Given the description of an element on the screen output the (x, y) to click on. 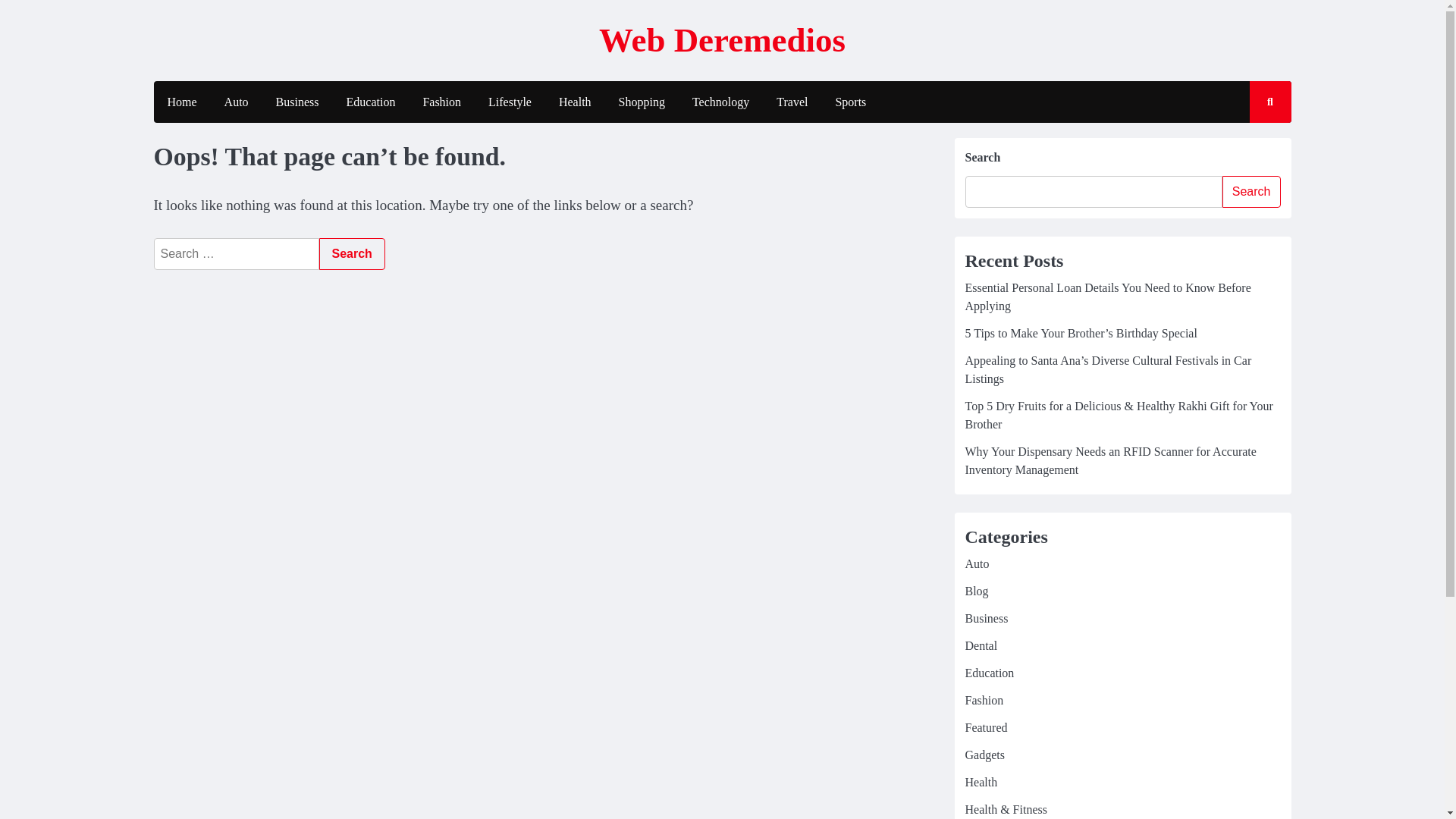
Fashion (983, 699)
Technology (720, 102)
Shopping (641, 102)
Search (1252, 192)
Search (351, 254)
Lifestyle (509, 102)
Business (985, 617)
Home (180, 102)
Travel (791, 102)
Search (1256, 145)
Dental (980, 645)
Search (351, 254)
Auto (236, 102)
Web Deremedios (721, 39)
Health (574, 102)
